Given the description of an element on the screen output the (x, y) to click on. 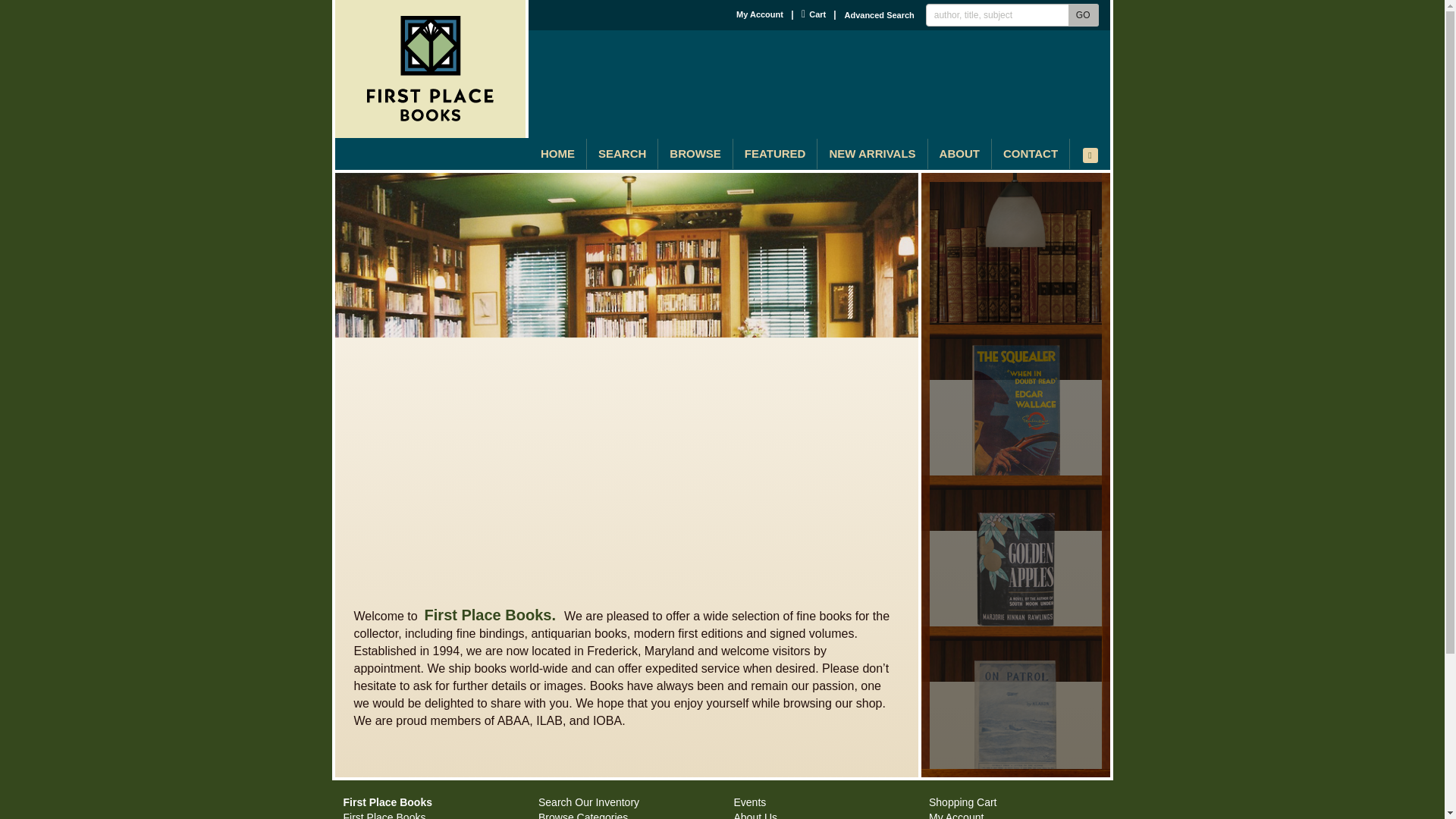
CONTACT (1029, 153)
ABOUT (959, 153)
Advanced Search (879, 14)
Find on Facebook (1090, 155)
Browse Categories (582, 815)
My Account (759, 13)
Search Our Inventory (588, 802)
FEATURED (774, 153)
Find on Facebook (1090, 155)
NEW ARRIVALS (871, 153)
SEARCH (1083, 15)
About Us (622, 153)
Cart (755, 815)
BROWSE (815, 13)
